Given the description of an element on the screen output the (x, y) to click on. 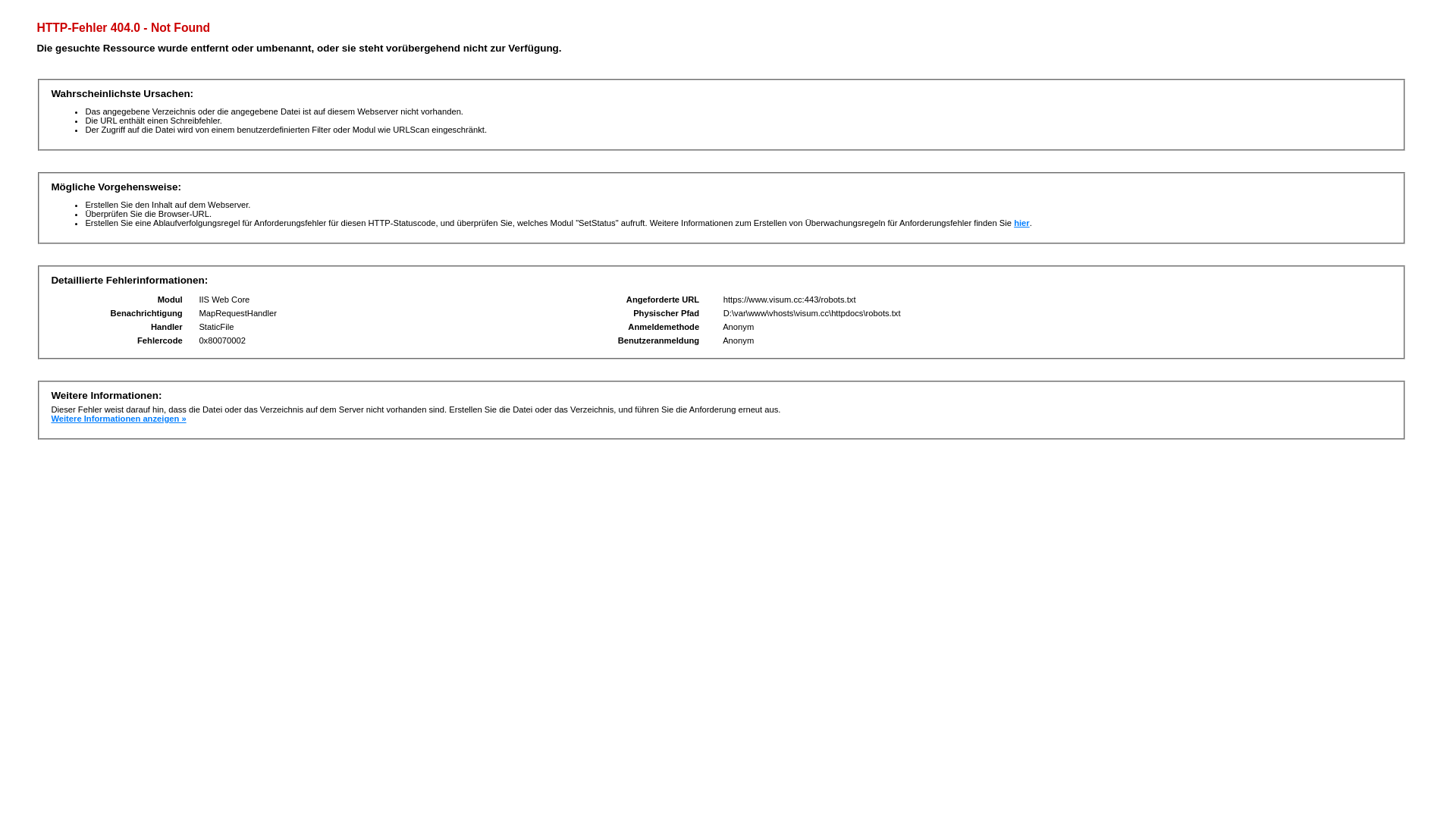
hier Element type: text (1021, 222)
